Given the description of an element on the screen output the (x, y) to click on. 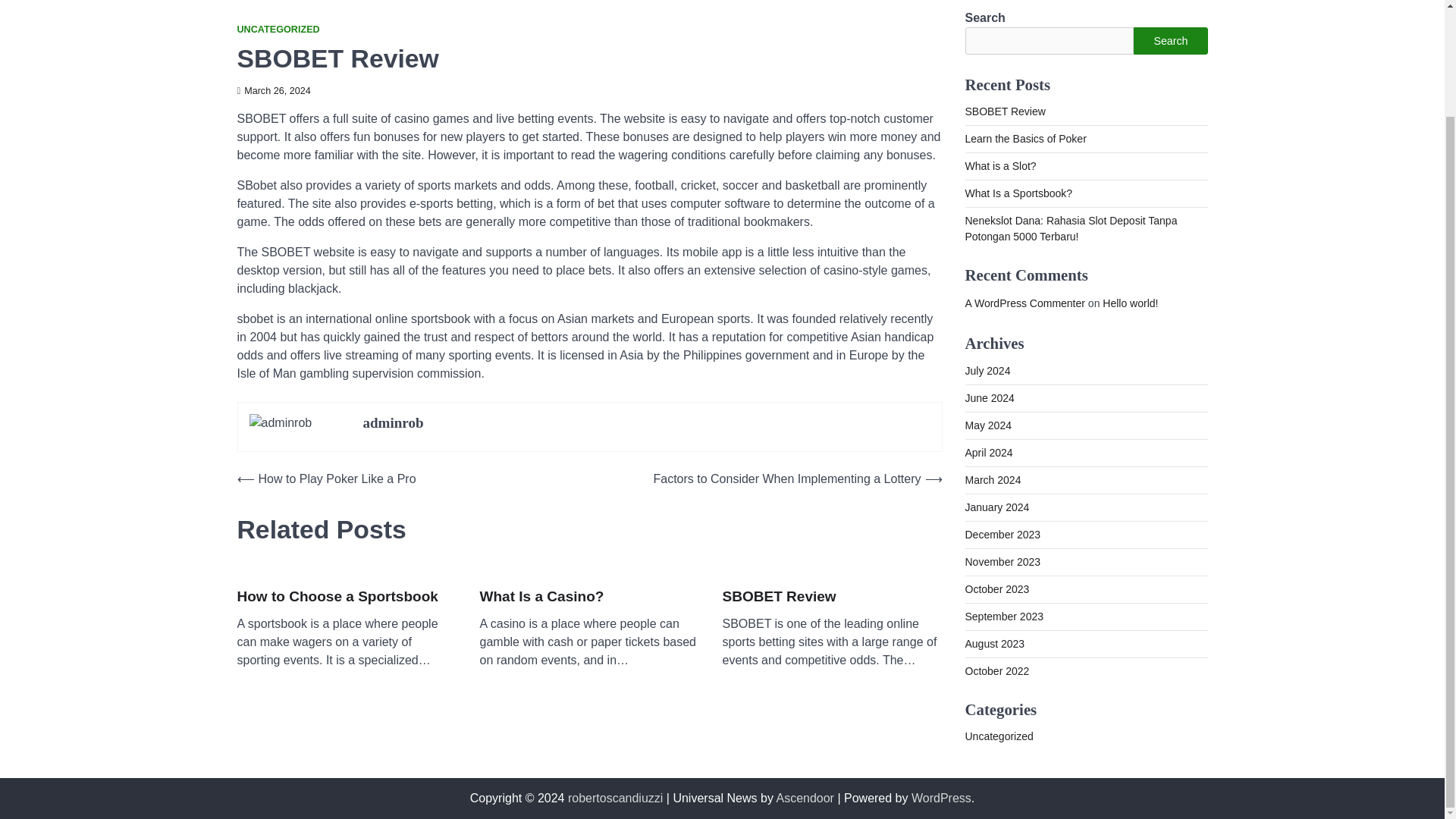
SBOBET Review (1004, 111)
Ascendoor (805, 797)
October 2023 (996, 589)
Uncategorized (997, 736)
November 2023 (1002, 562)
July 2024 (986, 370)
UNCATEGORIZED (276, 30)
August 2023 (994, 644)
What is a Slot? (999, 165)
January 2024 (996, 507)
A WordPress Commenter (1023, 303)
October 2022 (996, 671)
Hello world! (1129, 303)
SBOBET Review (778, 597)
How to Choose a Sportsbook (336, 597)
